Given the description of an element on the screen output the (x, y) to click on. 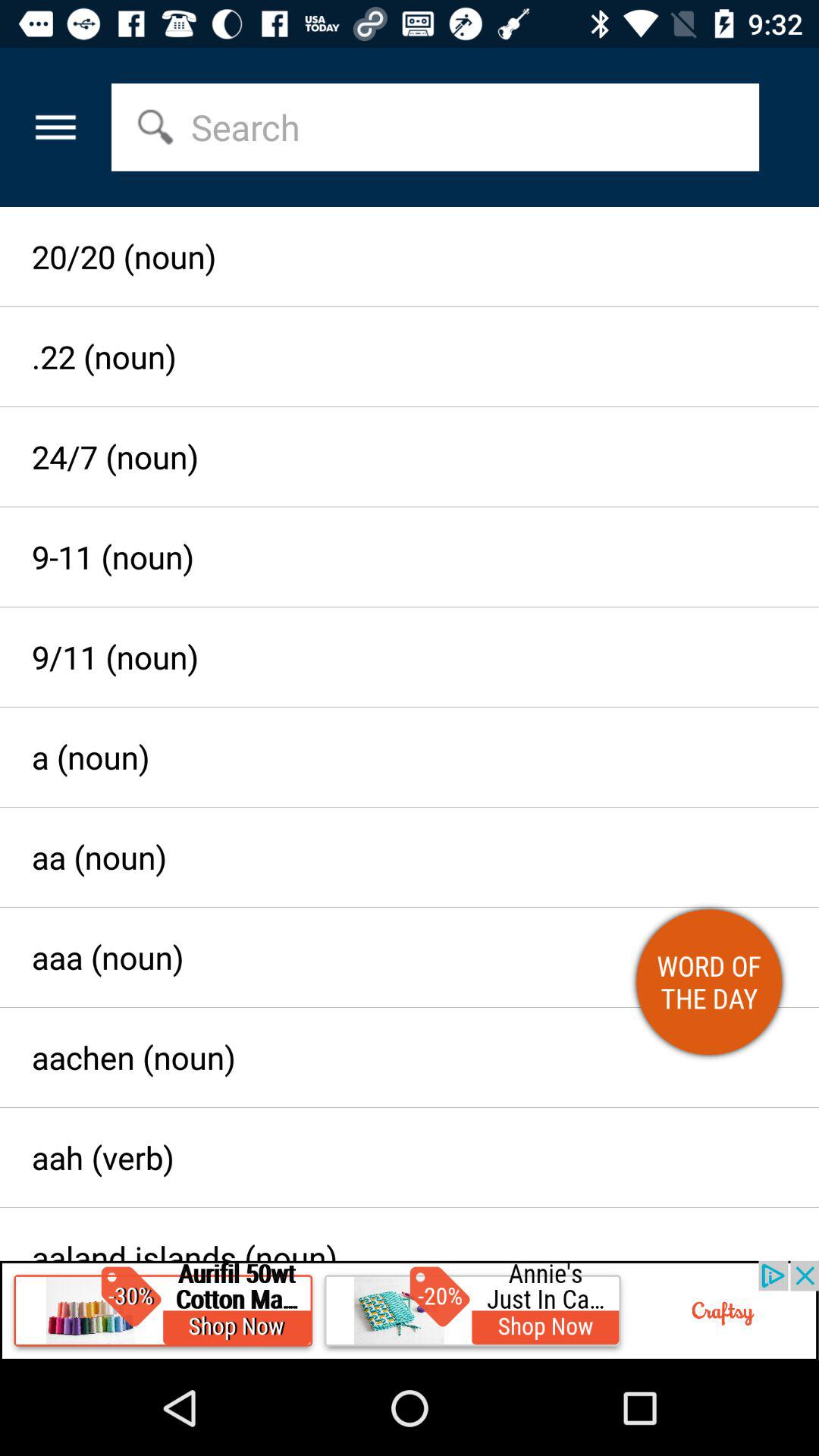
advertisement (409, 1310)
